Given the description of an element on the screen output the (x, y) to click on. 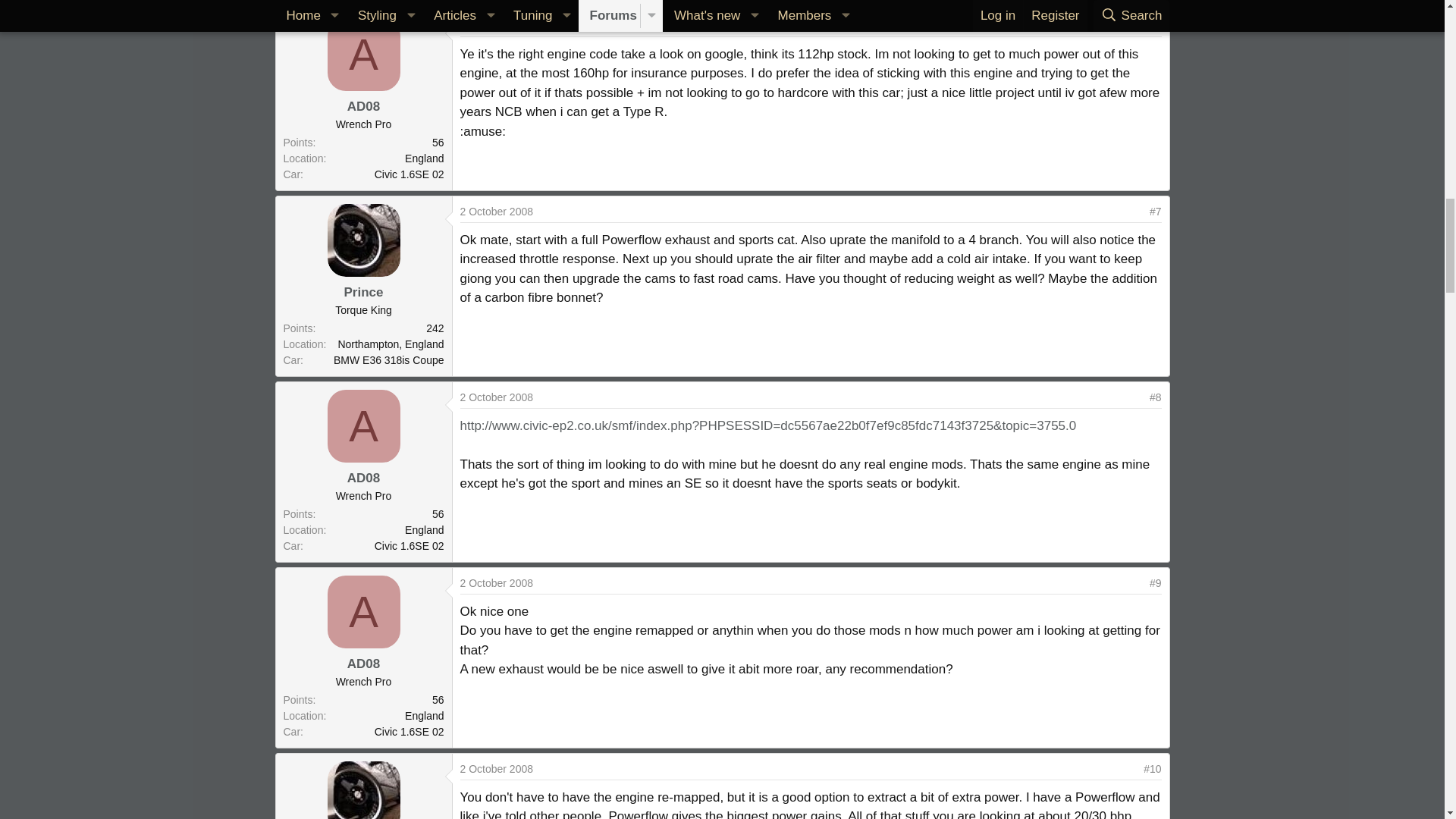
2 October 2008 at 15:23 (496, 25)
2 October 2008 at 15:33 (496, 397)
2 October 2008 at 15:38 (496, 582)
2 October 2008 at 15:30 (496, 211)
2 October 2008 at 15:44 (496, 768)
